Given the description of an element on the screen output the (x, y) to click on. 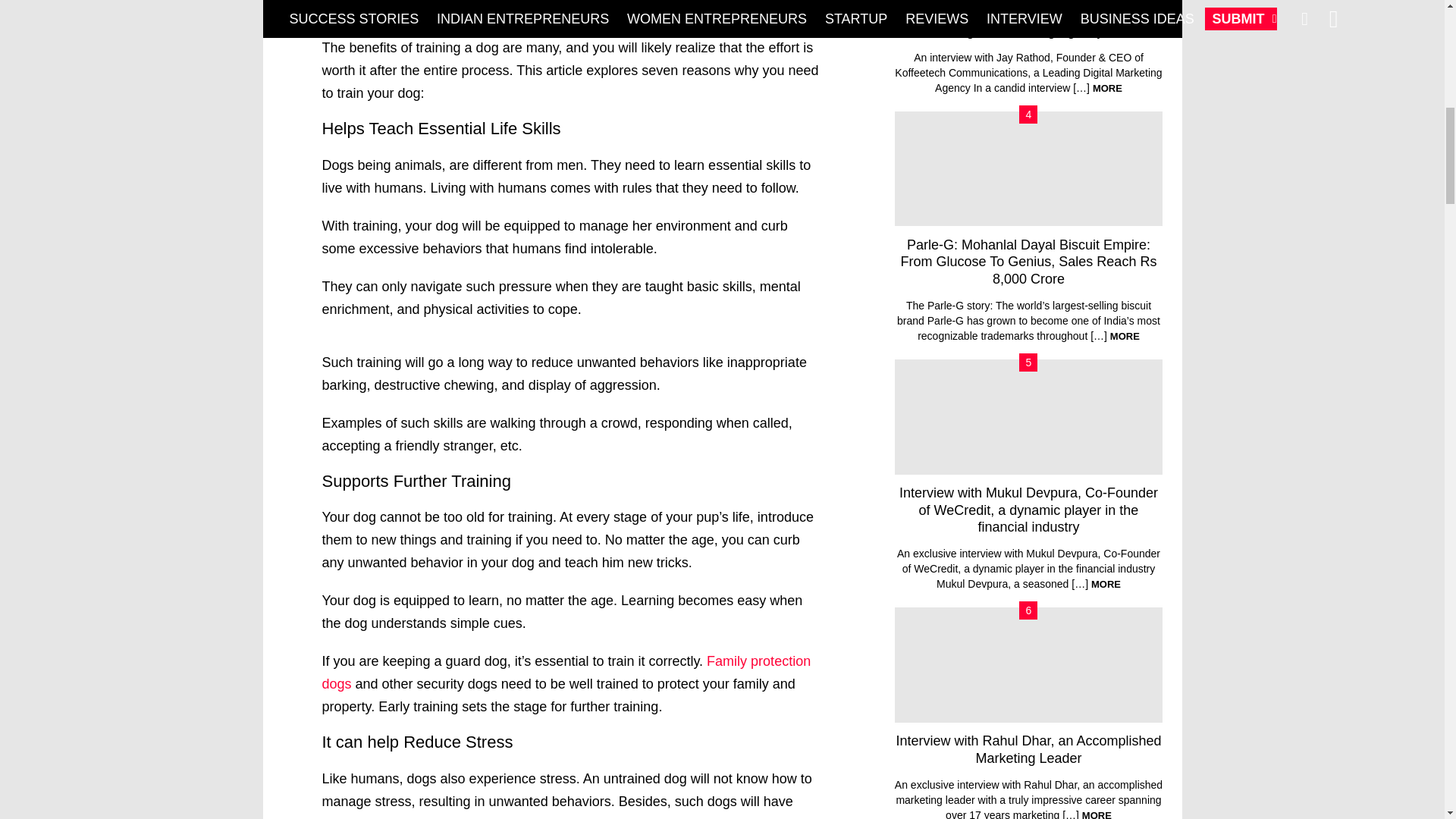
Family protection dogs (565, 672)
